Given the description of an element on the screen output the (x, y) to click on. 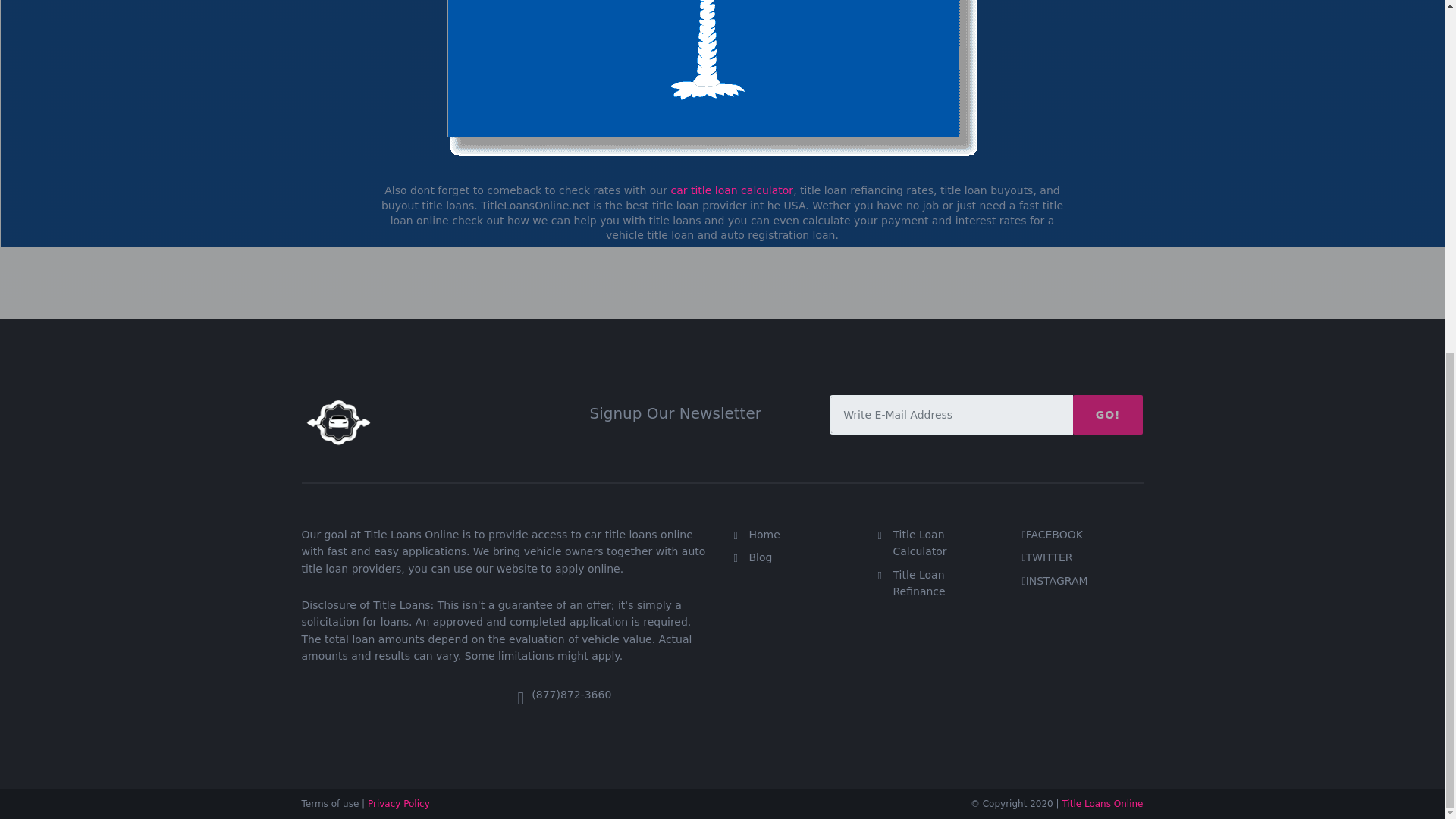
Title Loan Calculator (920, 542)
title loan calculator (731, 190)
Title Loan Refinance (918, 582)
car title loan estimate calculator (920, 542)
Home (764, 534)
Blog (761, 557)
FACEBOOK (1054, 534)
refinance title loan (918, 582)
Privacy Policy (398, 803)
GO! (1107, 414)
Title Loans Online (1101, 803)
car title loan calculator (731, 190)
TWITTER (1049, 557)
INSTAGRAM (1056, 580)
